Given the description of an element on the screen output the (x, y) to click on. 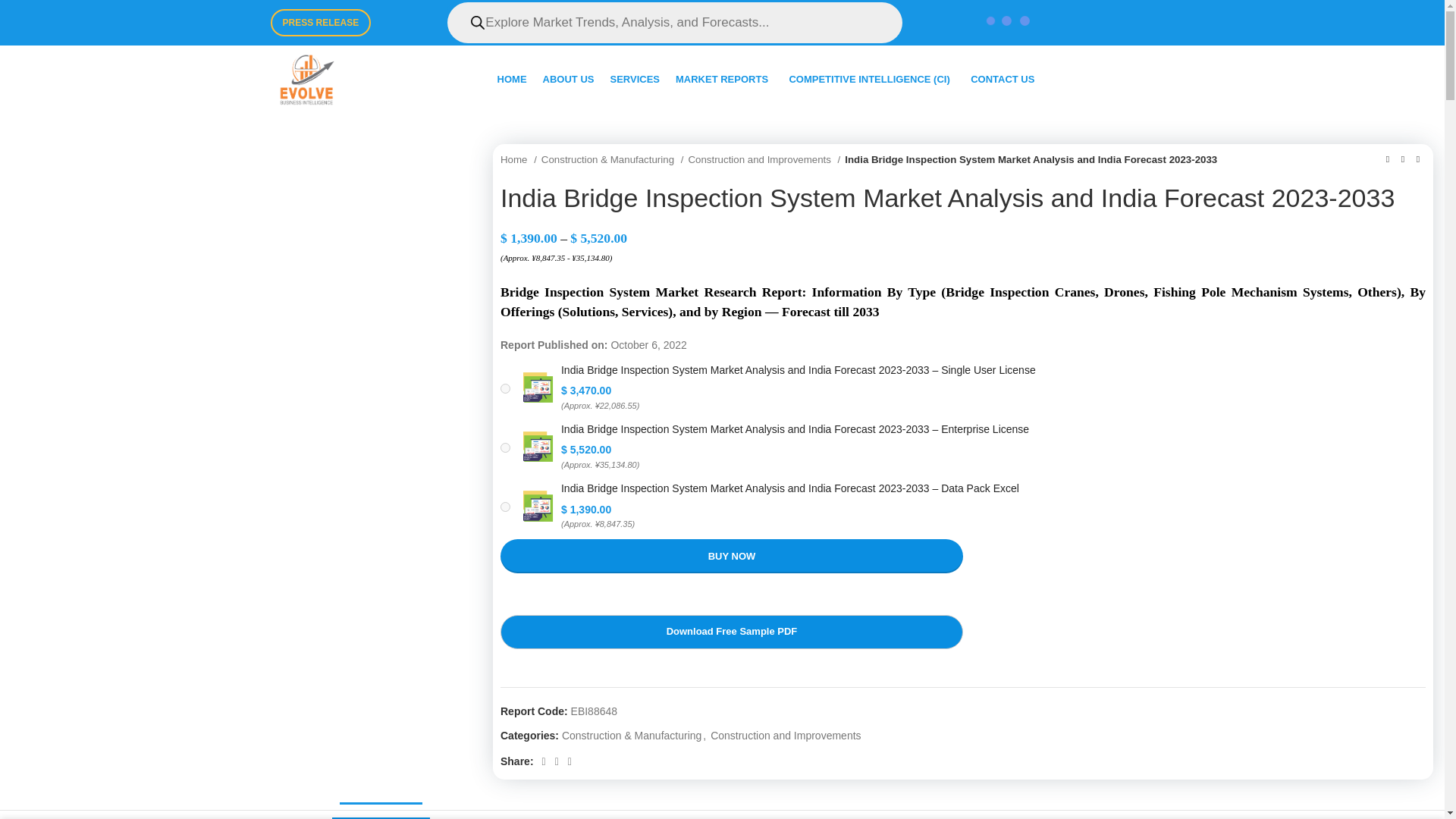
PRESS RELEASE (320, 22)
on (505, 388)
on (505, 506)
MARKET REPORTS (724, 79)
on (505, 447)
Download Free Sample PDF (731, 632)
